Given the description of an element on the screen output the (x, y) to click on. 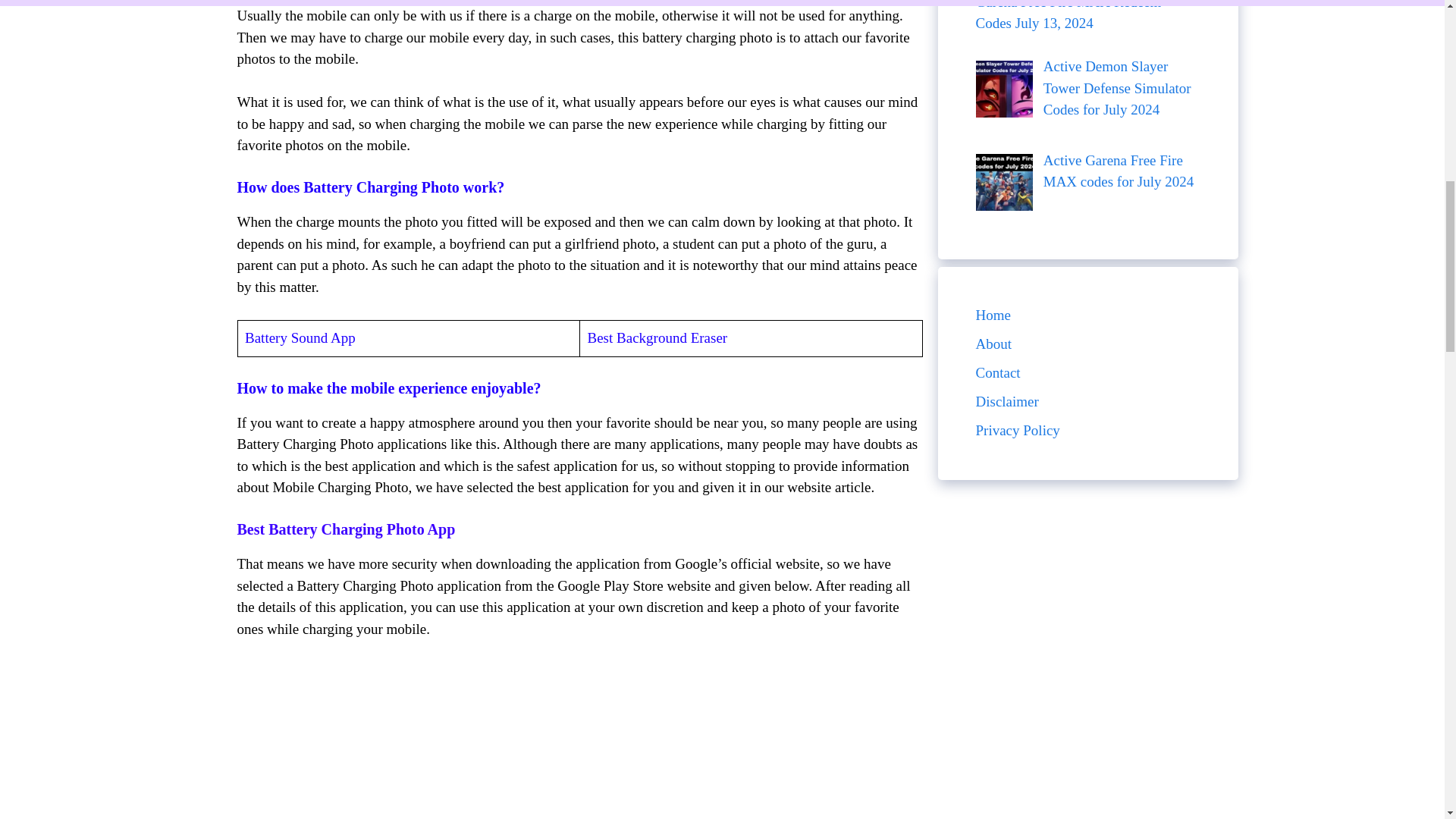
What Is The Requirement of Battery Charging Photo App? 1 (538, 740)
Best (599, 337)
Background Eraser (670, 337)
Battery Sound App (299, 337)
